Given the description of an element on the screen output the (x, y) to click on. 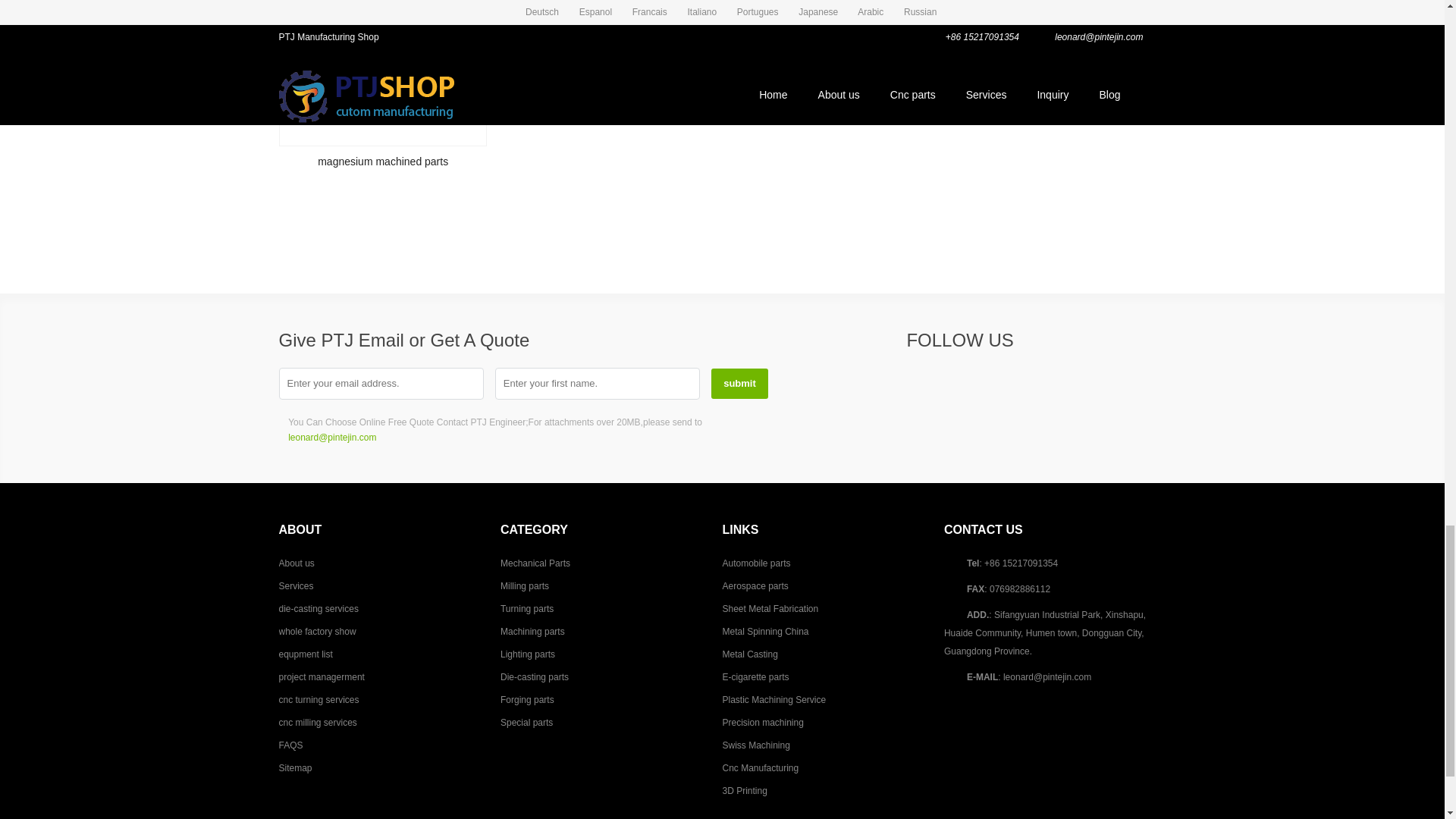
magnesium machined parts (382, 92)
submit (739, 383)
magnesium machined parts (383, 72)
